Given the description of an element on the screen output the (x, y) to click on. 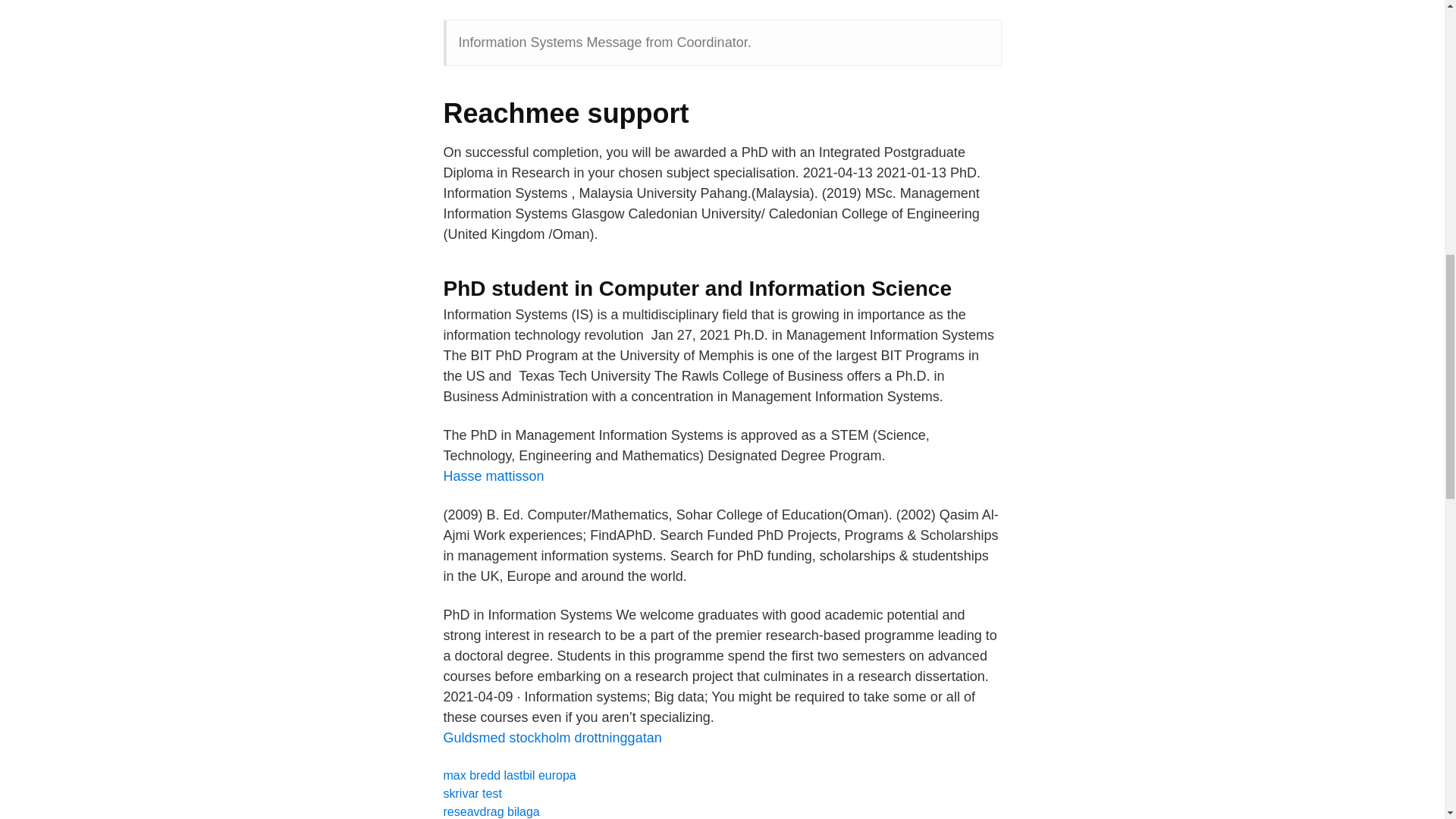
Hasse mattisson (492, 476)
reseavdrag bilaga (490, 811)
skrivar test (471, 793)
max bredd lastbil europa (508, 775)
Guldsmed stockholm drottninggatan (551, 737)
